Given the description of an element on the screen output the (x, y) to click on. 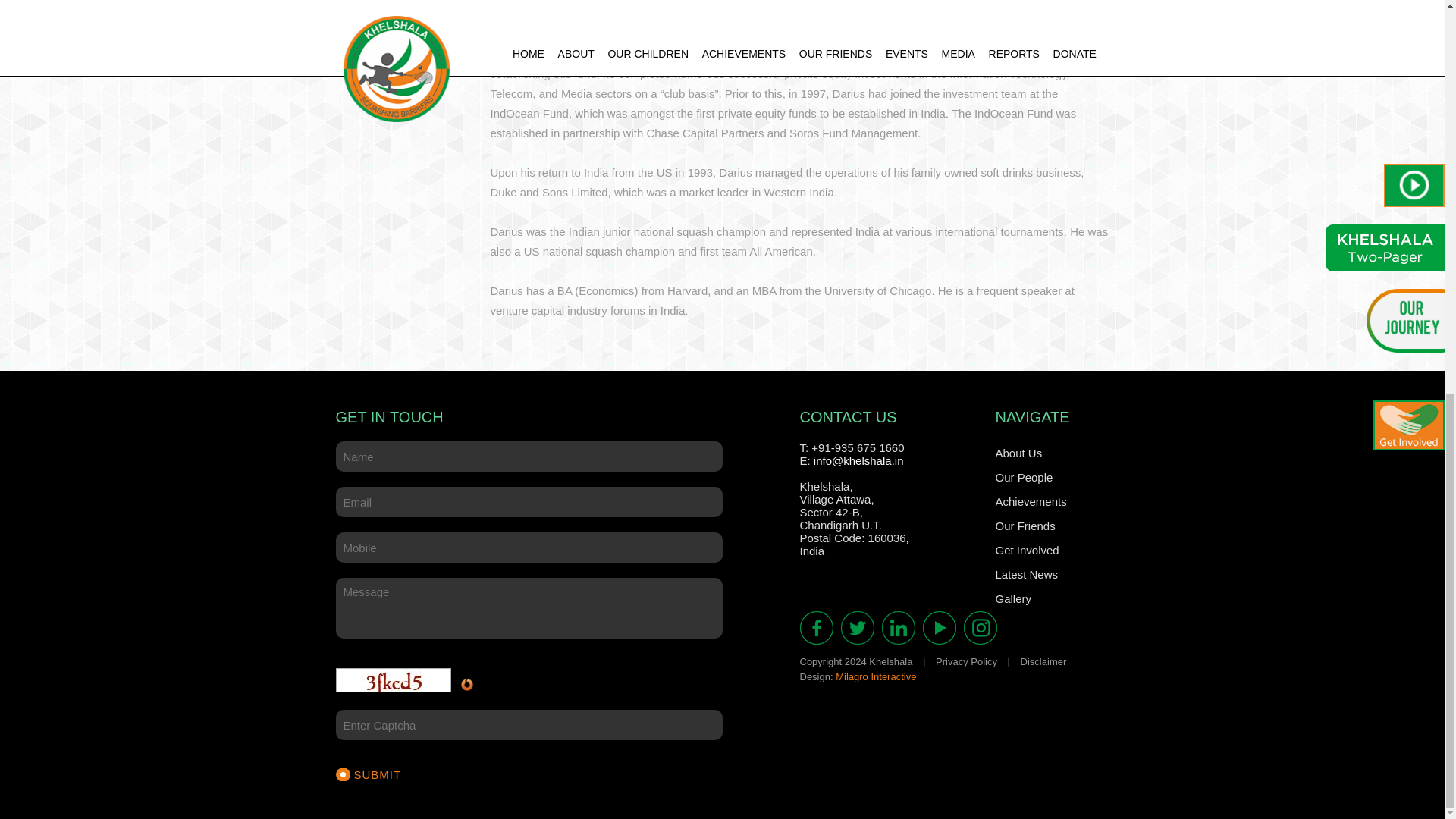
Submit (367, 774)
